Given the description of an element on the screen output the (x, y) to click on. 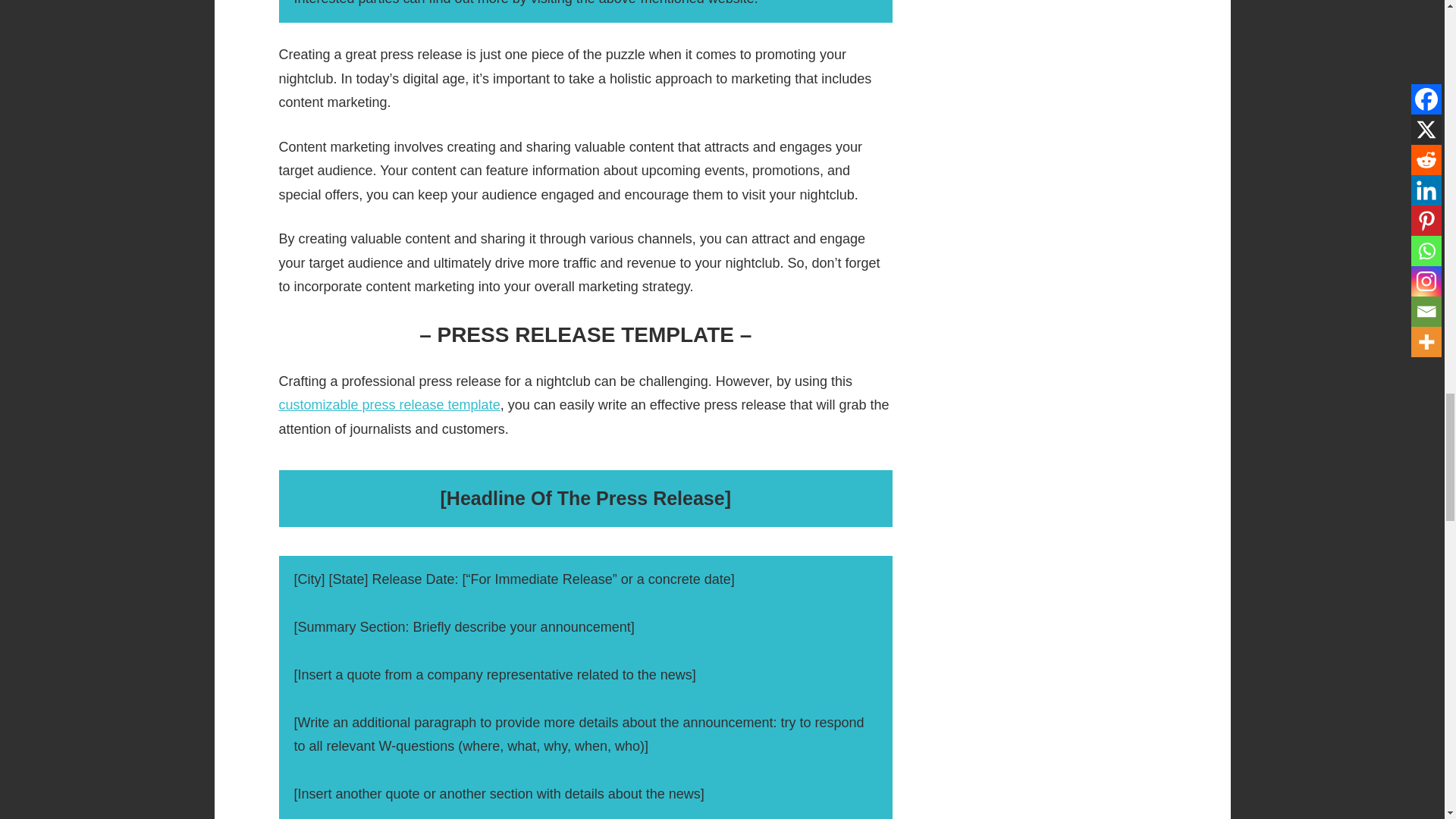
customizable press release template (389, 404)
